Given the description of an element on the screen output the (x, y) to click on. 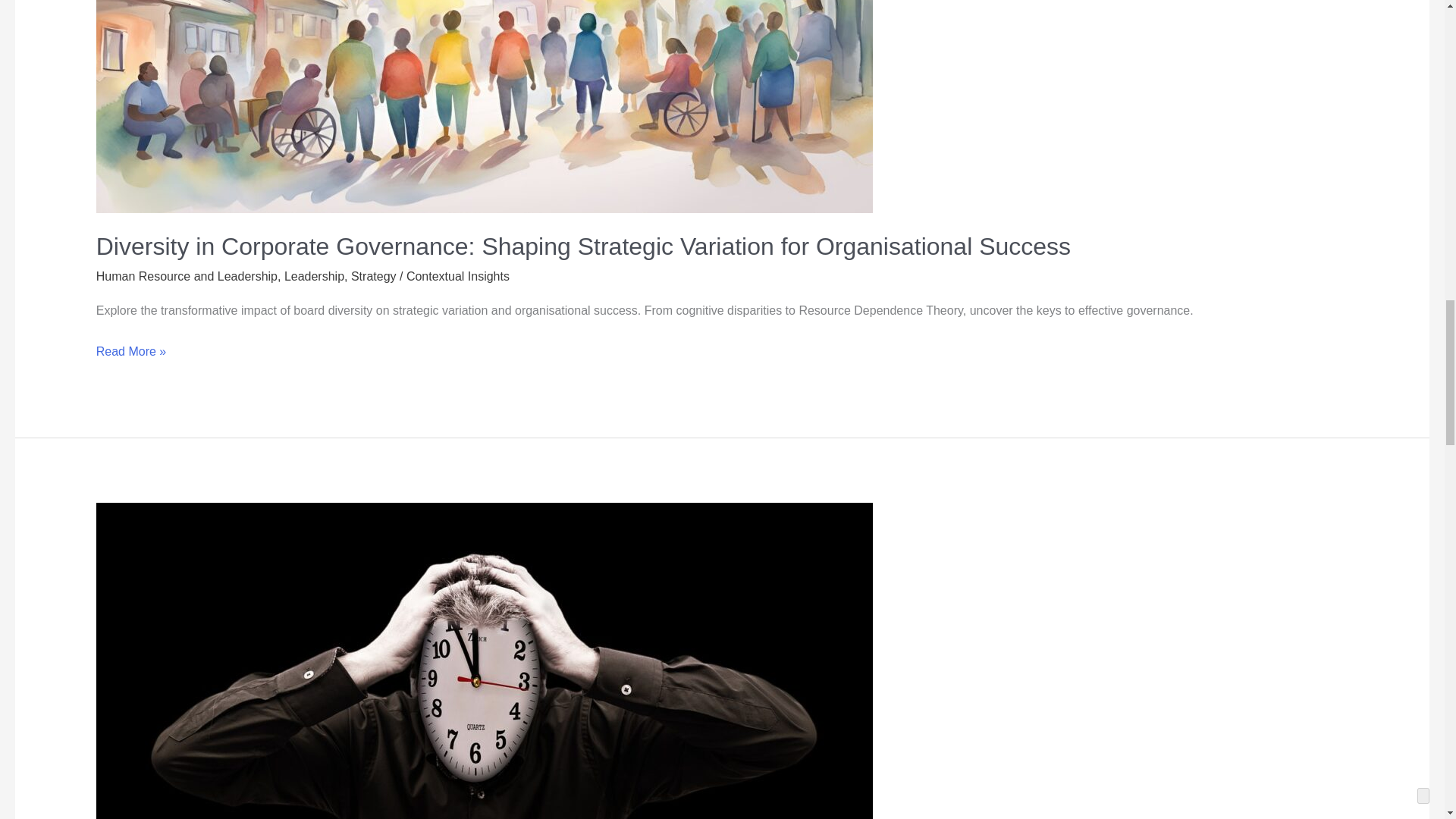
View all posts by Contextual Insights (457, 276)
